Given the description of an element on the screen output the (x, y) to click on. 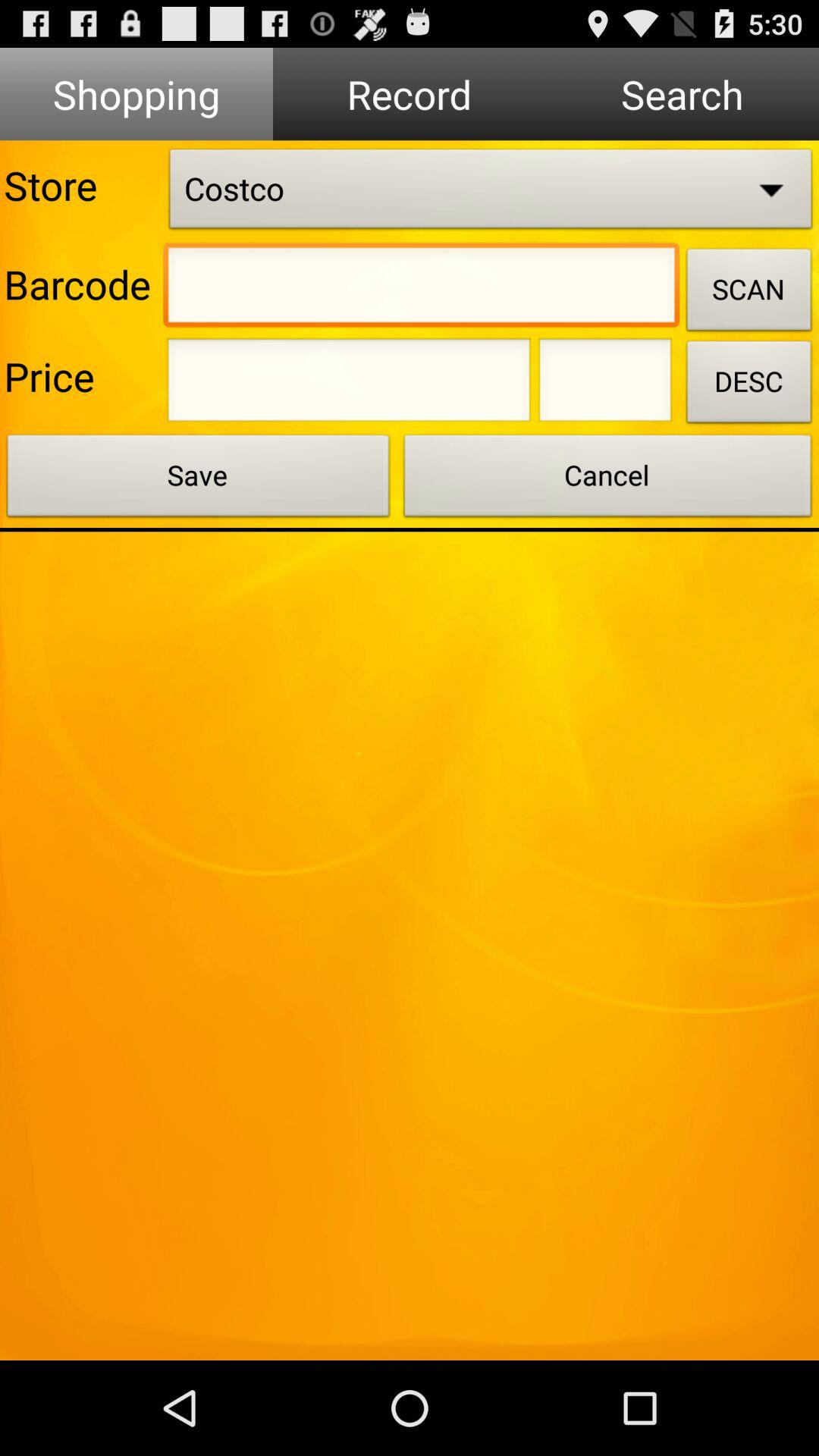
enter price (604, 384)
